Given the description of an element on the screen output the (x, y) to click on. 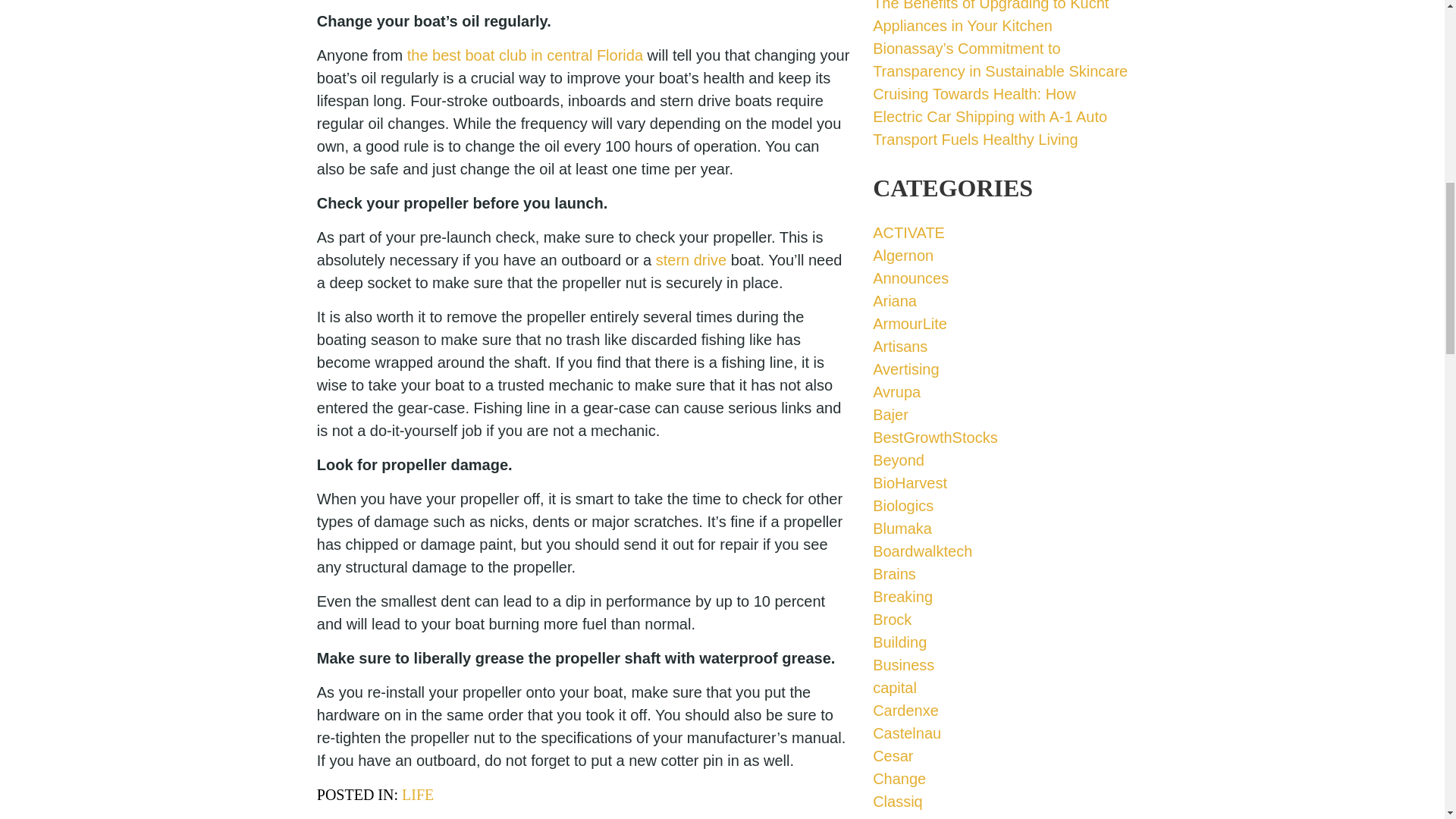
Ariana (894, 300)
Brock (891, 619)
Announces (910, 278)
Artisans (899, 346)
Boardwalktech (922, 550)
Avertising (905, 369)
LIFE (417, 794)
Breaking (902, 596)
stern drive (691, 259)
